Given the description of an element on the screen output the (x, y) to click on. 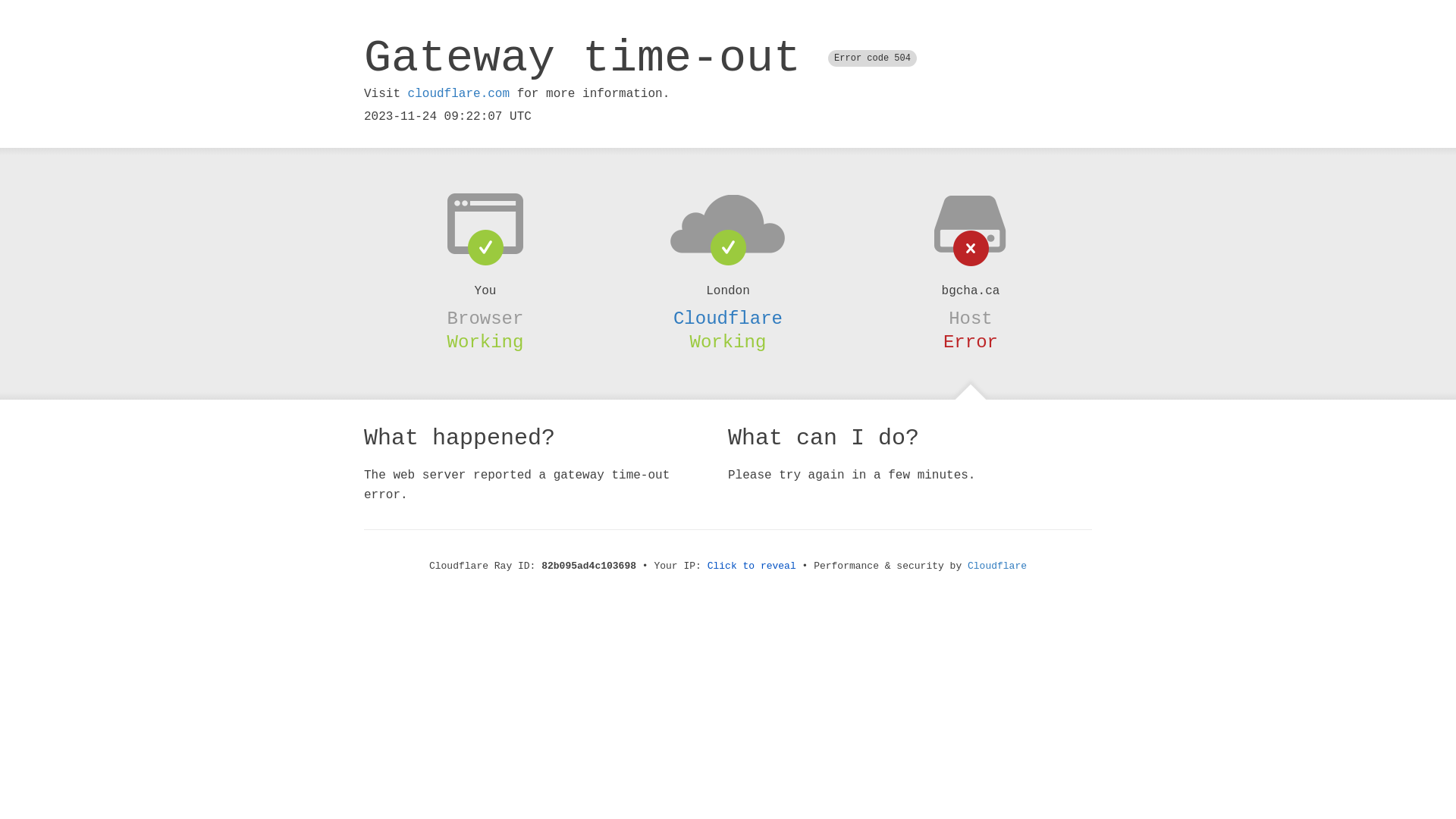
cloudflare.com Element type: text (458, 93)
Cloudflare Element type: text (727, 318)
Click to reveal Element type: text (751, 565)
Cloudflare Element type: text (996, 565)
